Given the description of an element on the screen output the (x, y) to click on. 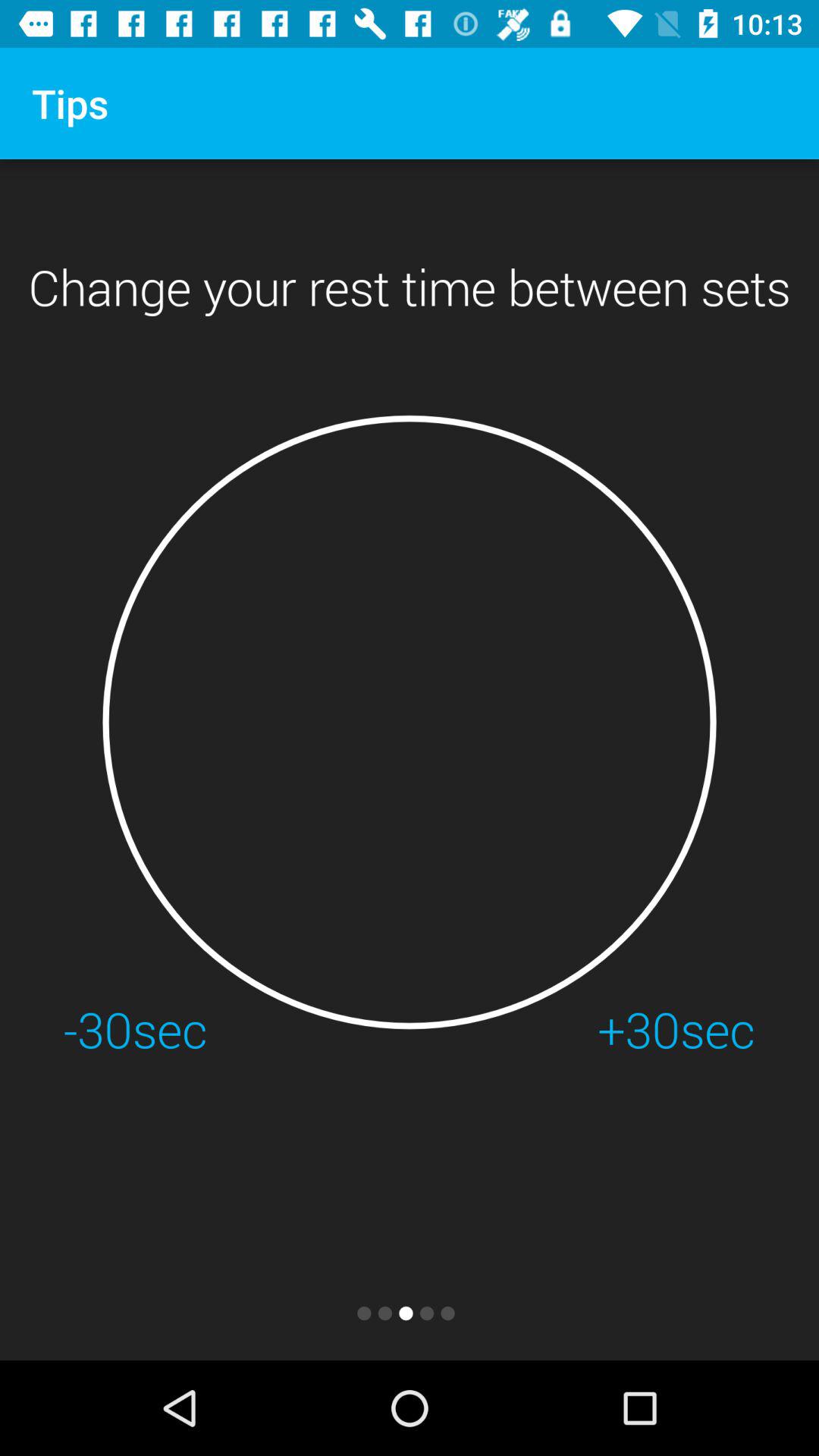
select the icon at the center (409, 722)
